Given the description of an element on the screen output the (x, y) to click on. 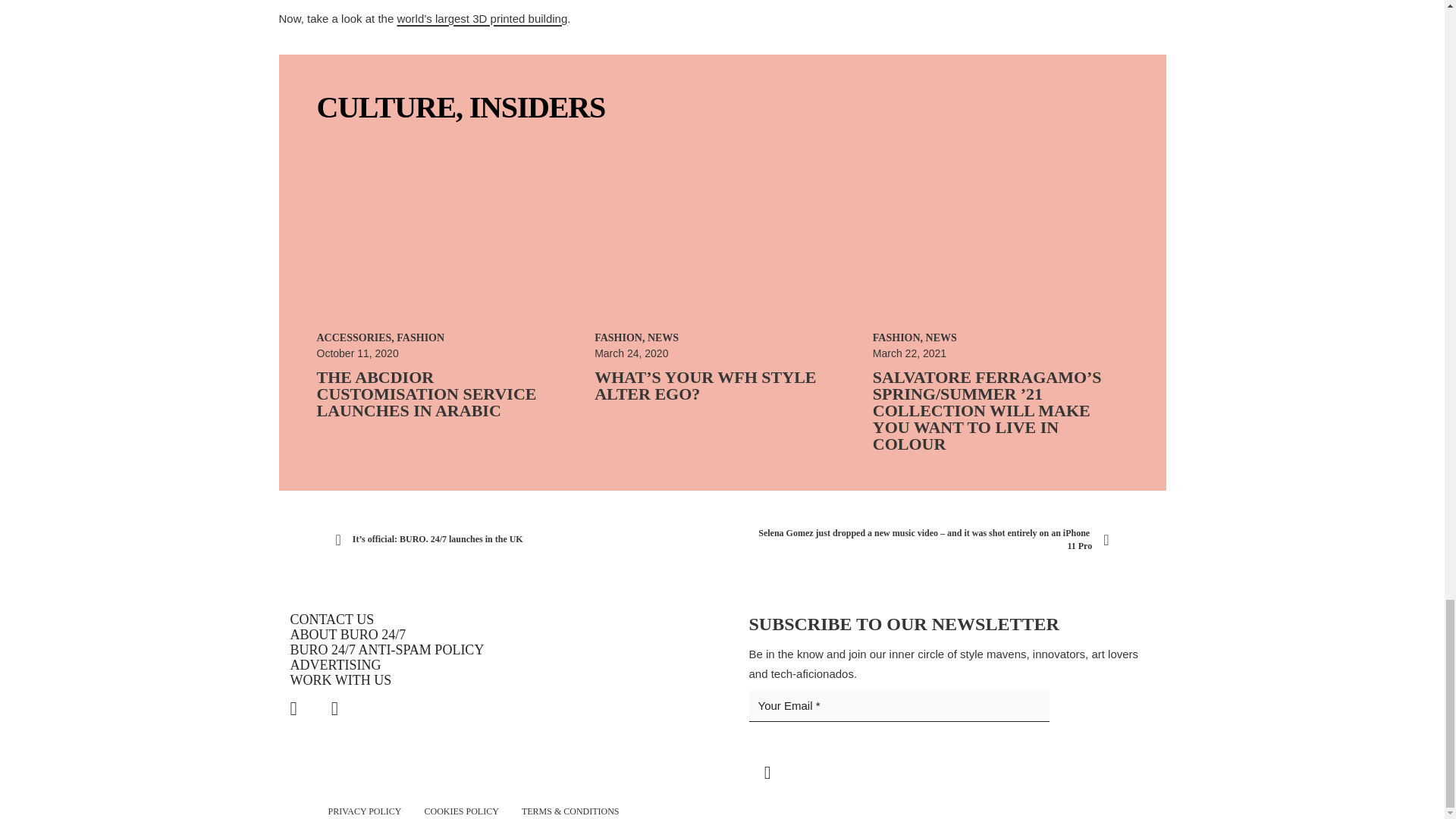
ACCESSORIES (354, 337)
CULTURE (387, 107)
INSIDERS (536, 107)
